Given the description of an element on the screen output the (x, y) to click on. 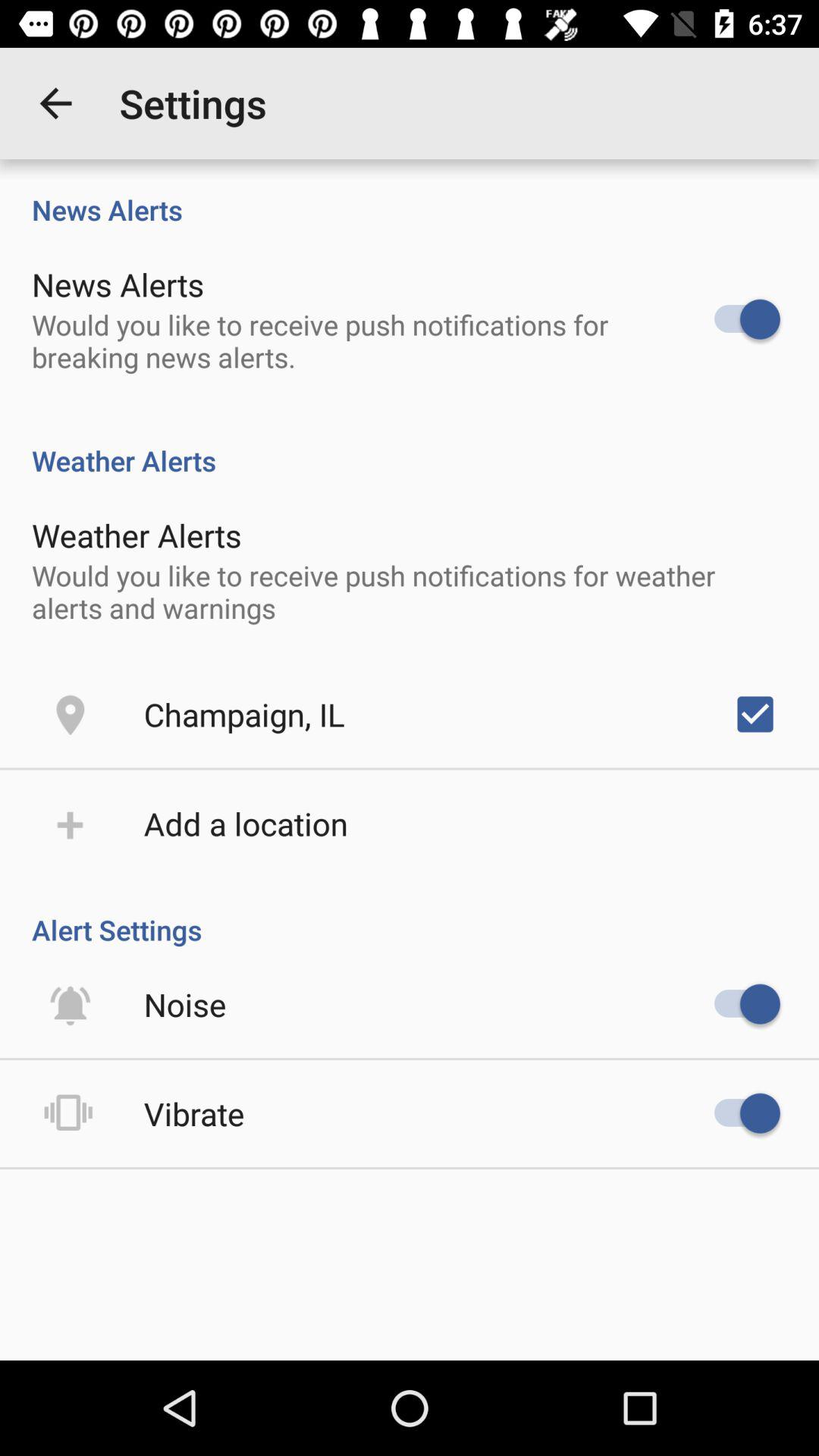
scroll until vibrate (193, 1113)
